Given the description of an element on the screen output the (x, y) to click on. 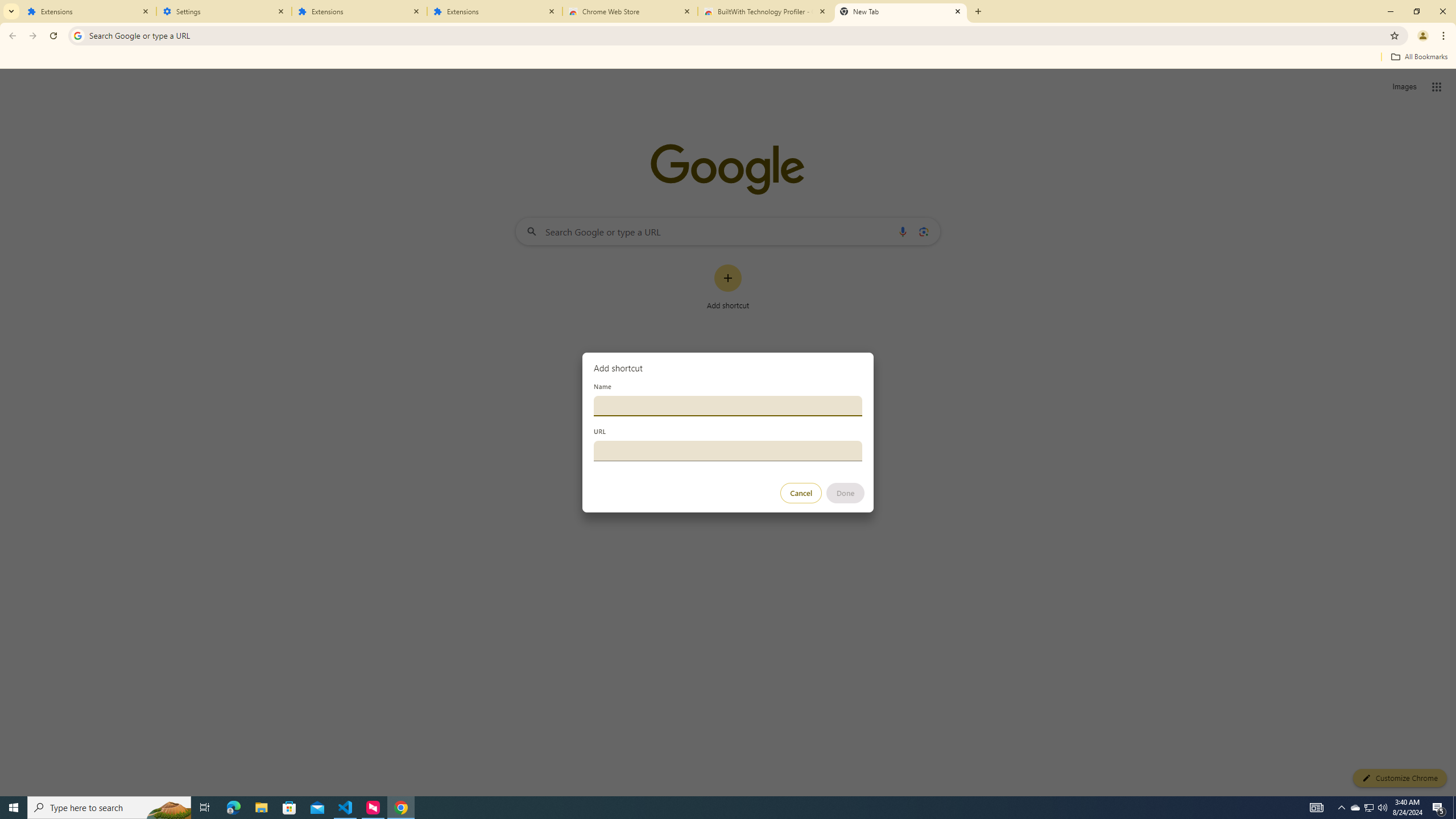
New Tab (901, 11)
BuiltWith Technology Profiler - Chrome Web Store (765, 11)
Done (845, 493)
Name (727, 405)
Settings (224, 11)
Extensions (88, 11)
